Given the description of an element on the screen output the (x, y) to click on. 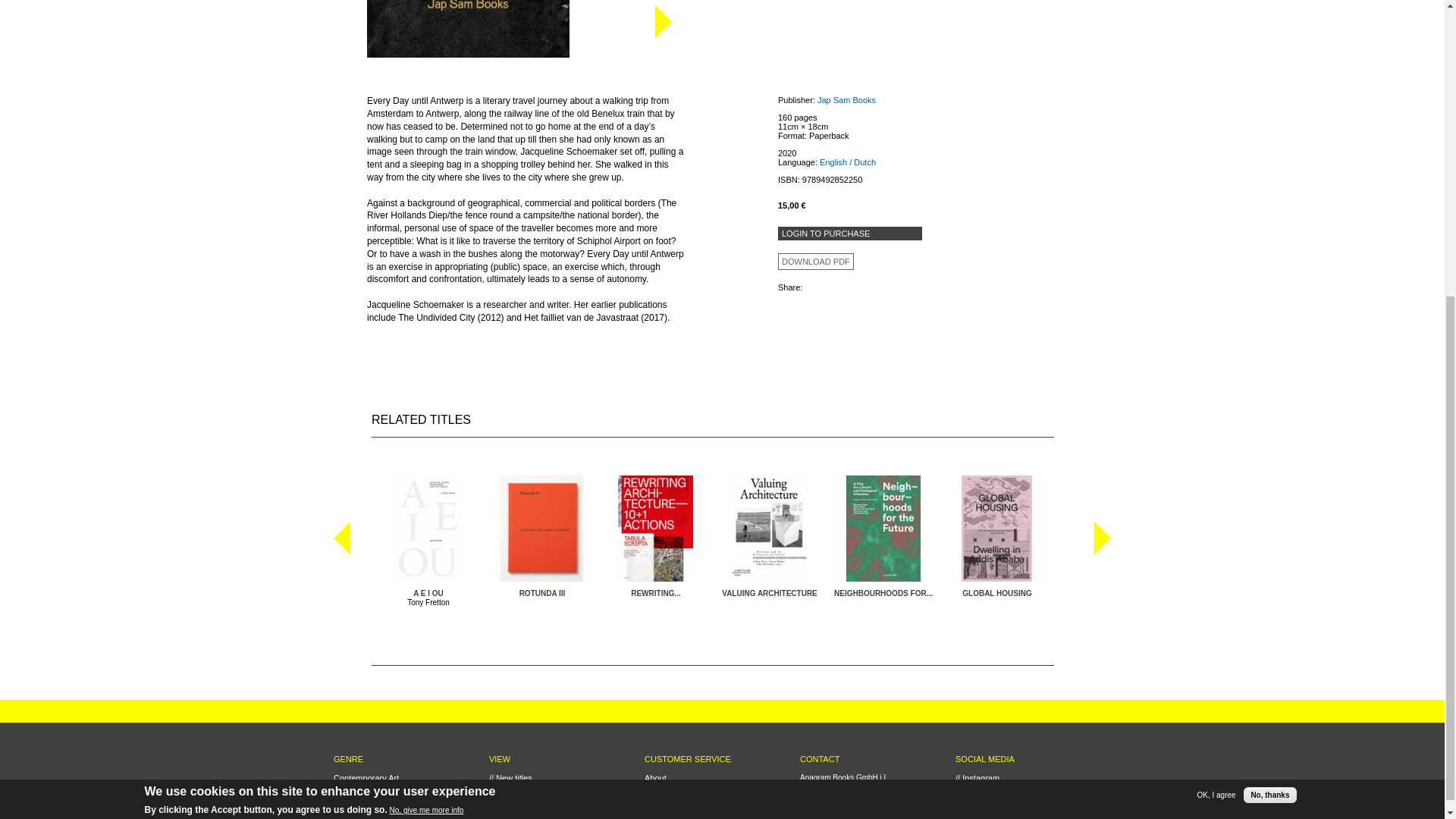
ROTUNDA III (542, 592)
rss (978, 804)
Jap Sam Books (846, 99)
twitter (971, 795)
LOGIN TO PURCHASE (849, 233)
instagram (976, 777)
Display a PDF version of this page. (815, 261)
VALUING ARCHITECTURE (769, 592)
REWRITING... (655, 592)
A E I OU (428, 592)
facebook (976, 786)
DOWNLOAD PDF (815, 261)
